Given the description of an element on the screen output the (x, y) to click on. 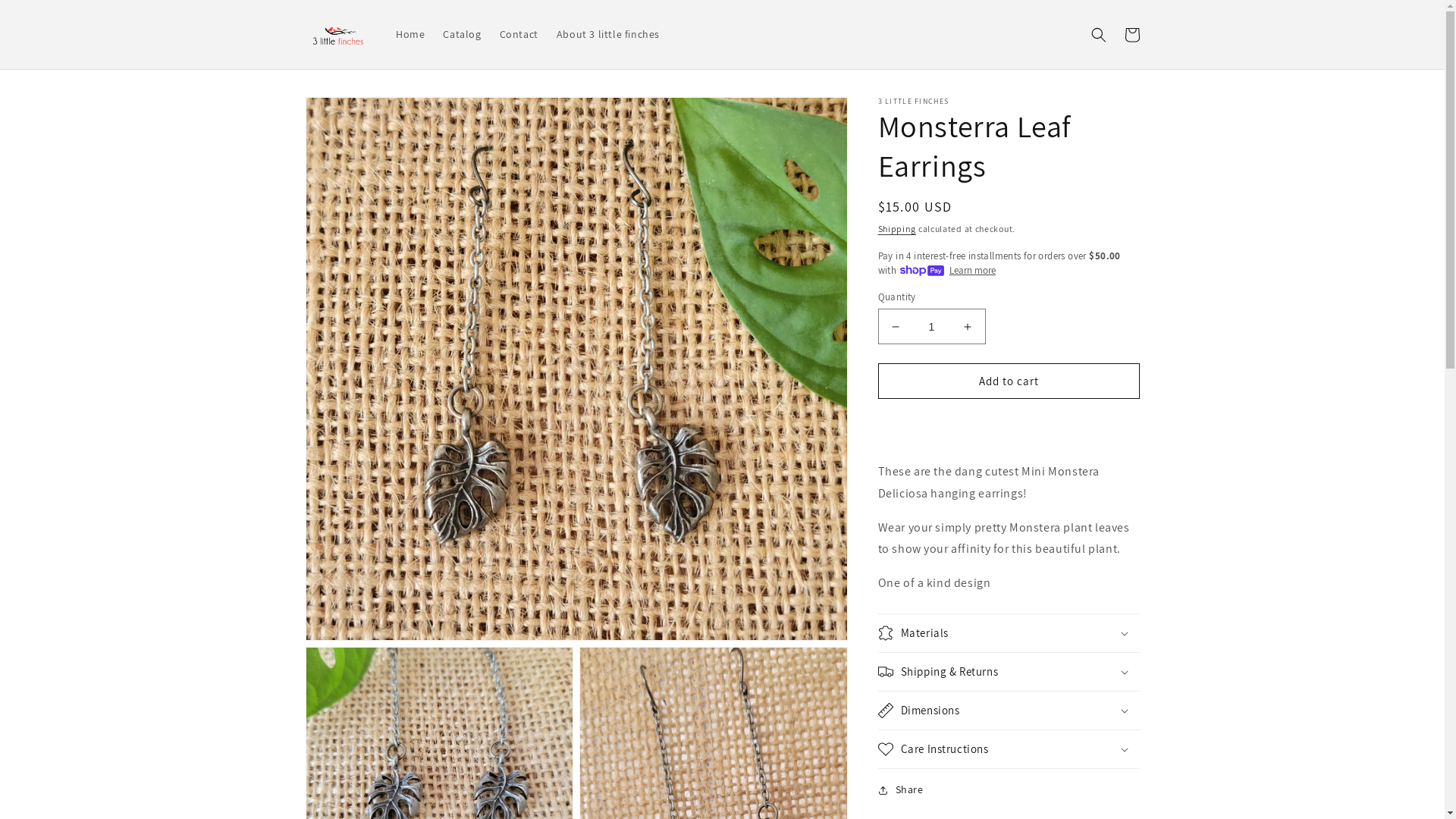
Cart Element type: text (1131, 34)
Home Element type: text (409, 34)
Add to cart Element type: text (1008, 380)
Catalog Element type: text (461, 34)
Contact Element type: text (518, 34)
Decrease quantity for Monsterra Leaf Earrings Element type: text (895, 326)
About 3 little finches Element type: text (607, 34)
Skip to product information Element type: text (350, 113)
Shipping Element type: text (897, 228)
Increase quantity for Monsterra Leaf Earrings Element type: text (967, 326)
